Given the description of an element on the screen output the (x, y) to click on. 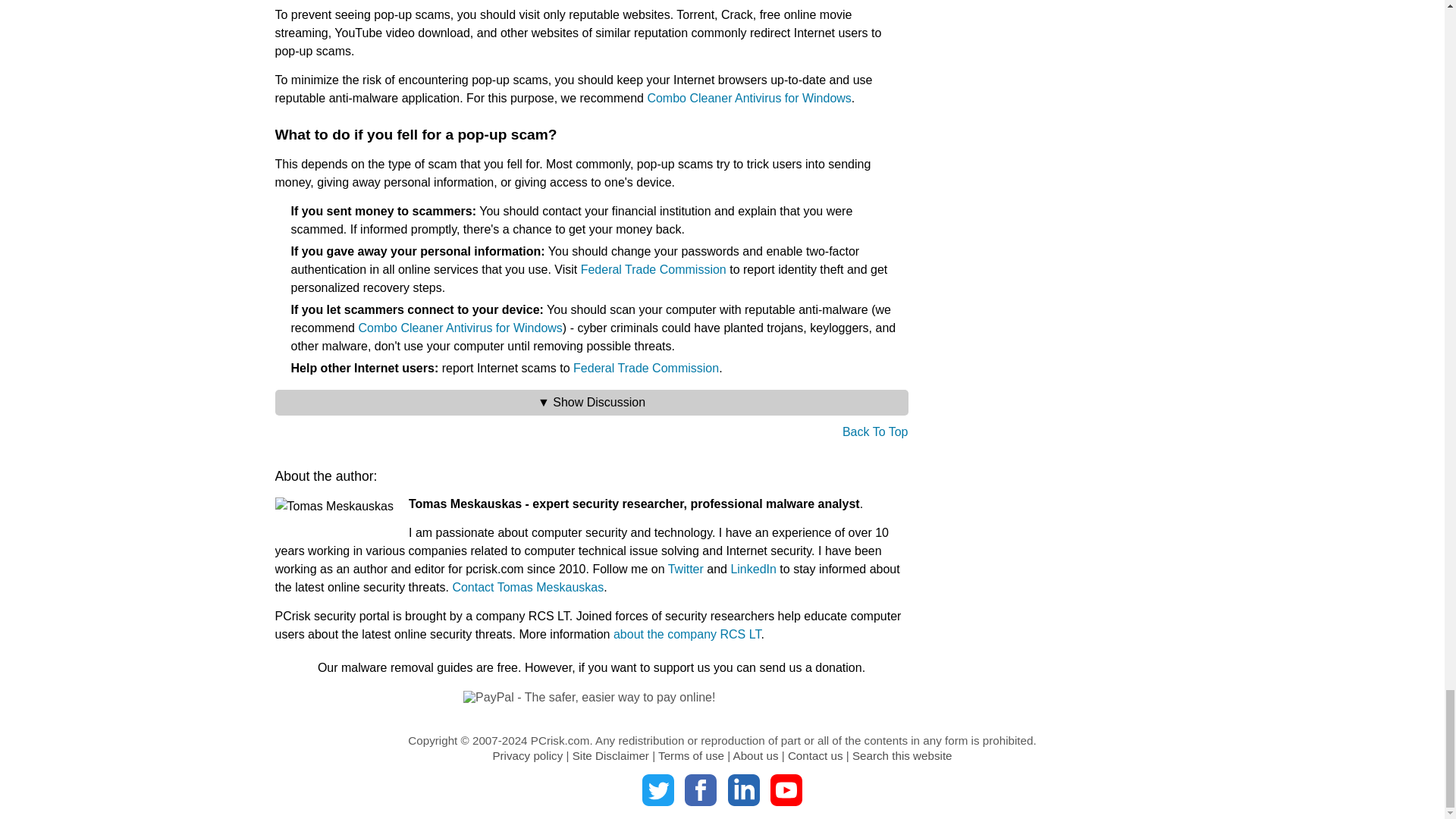
Contact us (815, 755)
Facebook (700, 789)
Disclaimer (610, 755)
Terms of use (690, 755)
Search site (901, 755)
PCrisk.com privacy policy (527, 755)
Twitter (658, 789)
Twitter (658, 789)
Facebook (700, 789)
About us (755, 755)
LinkedIn (744, 789)
Youtube (786, 789)
